Given the description of an element on the screen output the (x, y) to click on. 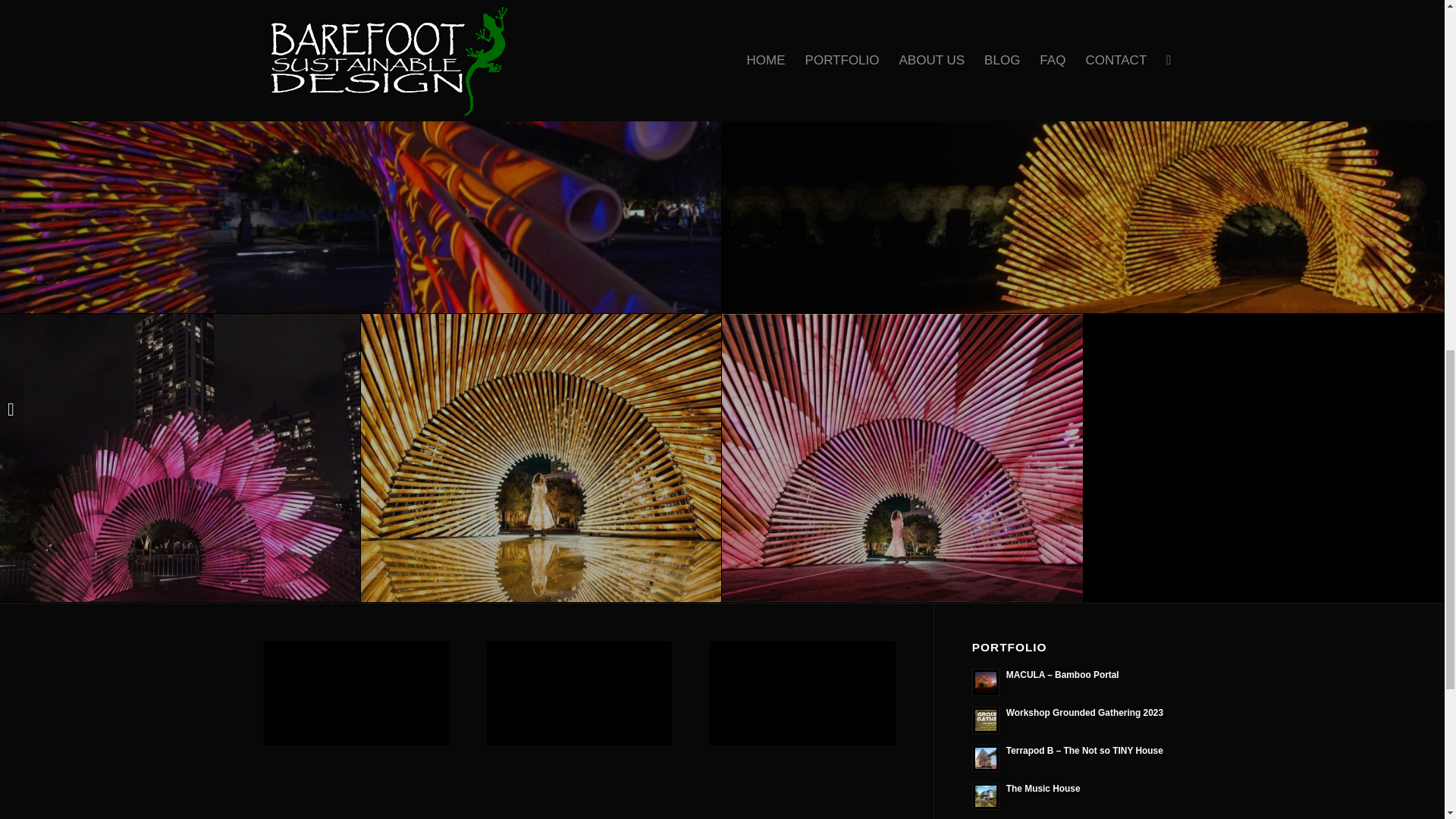
DSCF1648 (540, 12)
DSCF1648 (541, 12)
The Music House (1076, 794)
Workshop Grounded Gathering 2023 (1076, 718)
